Given the description of an element on the screen output the (x, y) to click on. 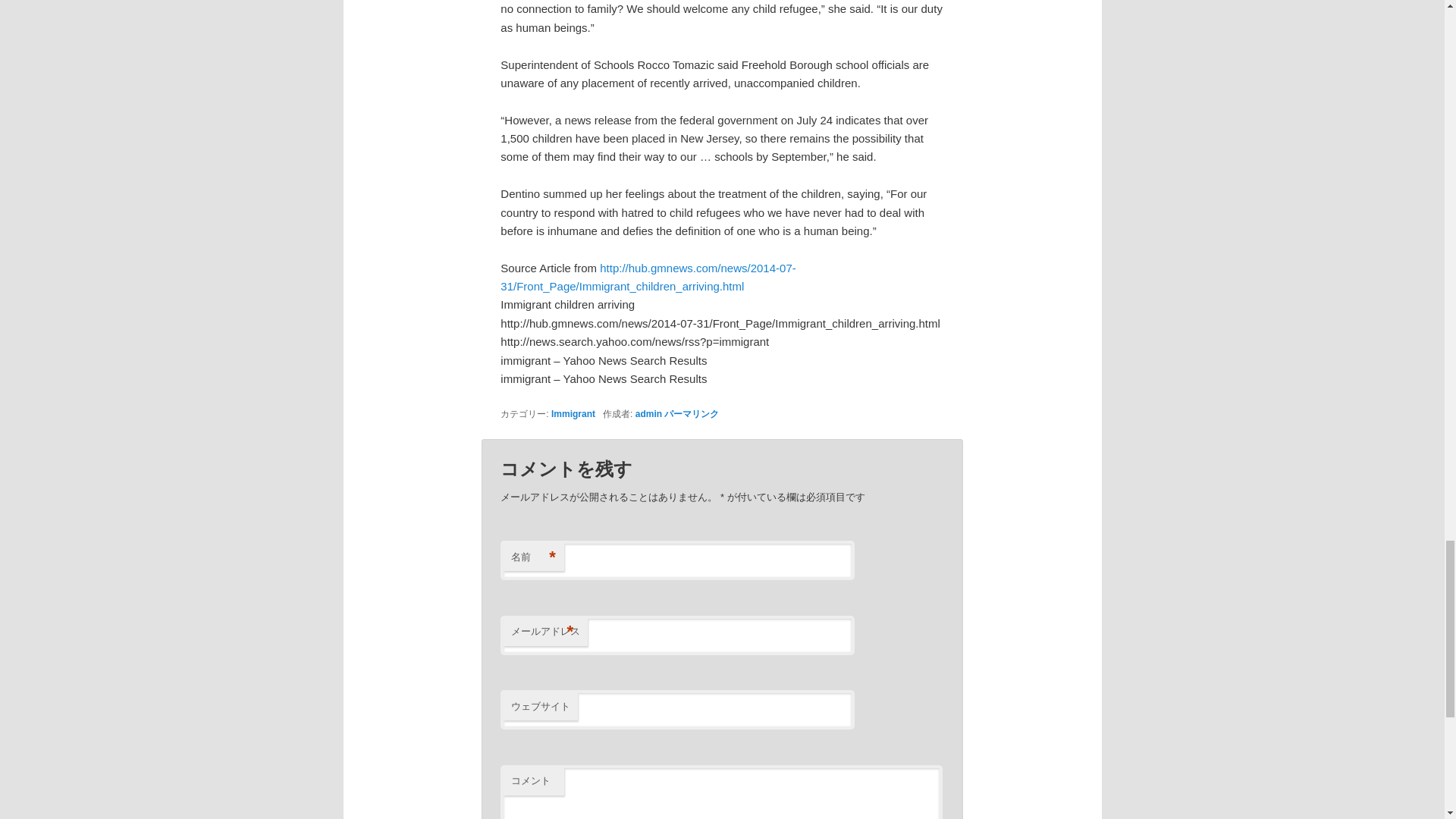
Immigrant (573, 413)
admin (648, 413)
